Given the description of an element on the screen output the (x, y) to click on. 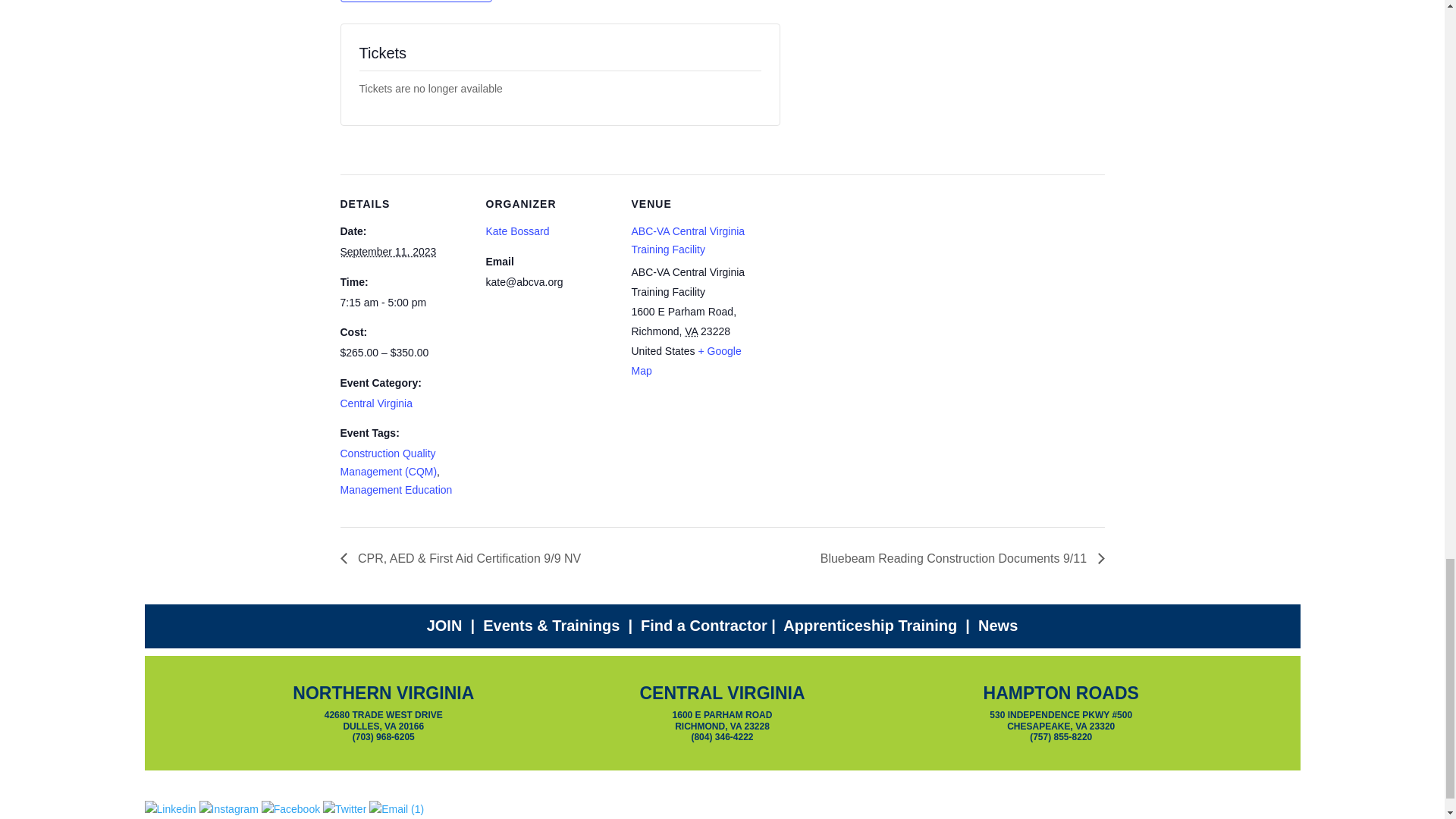
Kate Bossard (516, 231)
Central Virginia (375, 403)
Click to view a Google Map (685, 360)
News (997, 625)
Kate Bossard (516, 231)
2023-09-11 (387, 251)
Find a Contractor (703, 625)
Management Education (395, 490)
JOIN (444, 625)
